Given the description of an element on the screen output the (x, y) to click on. 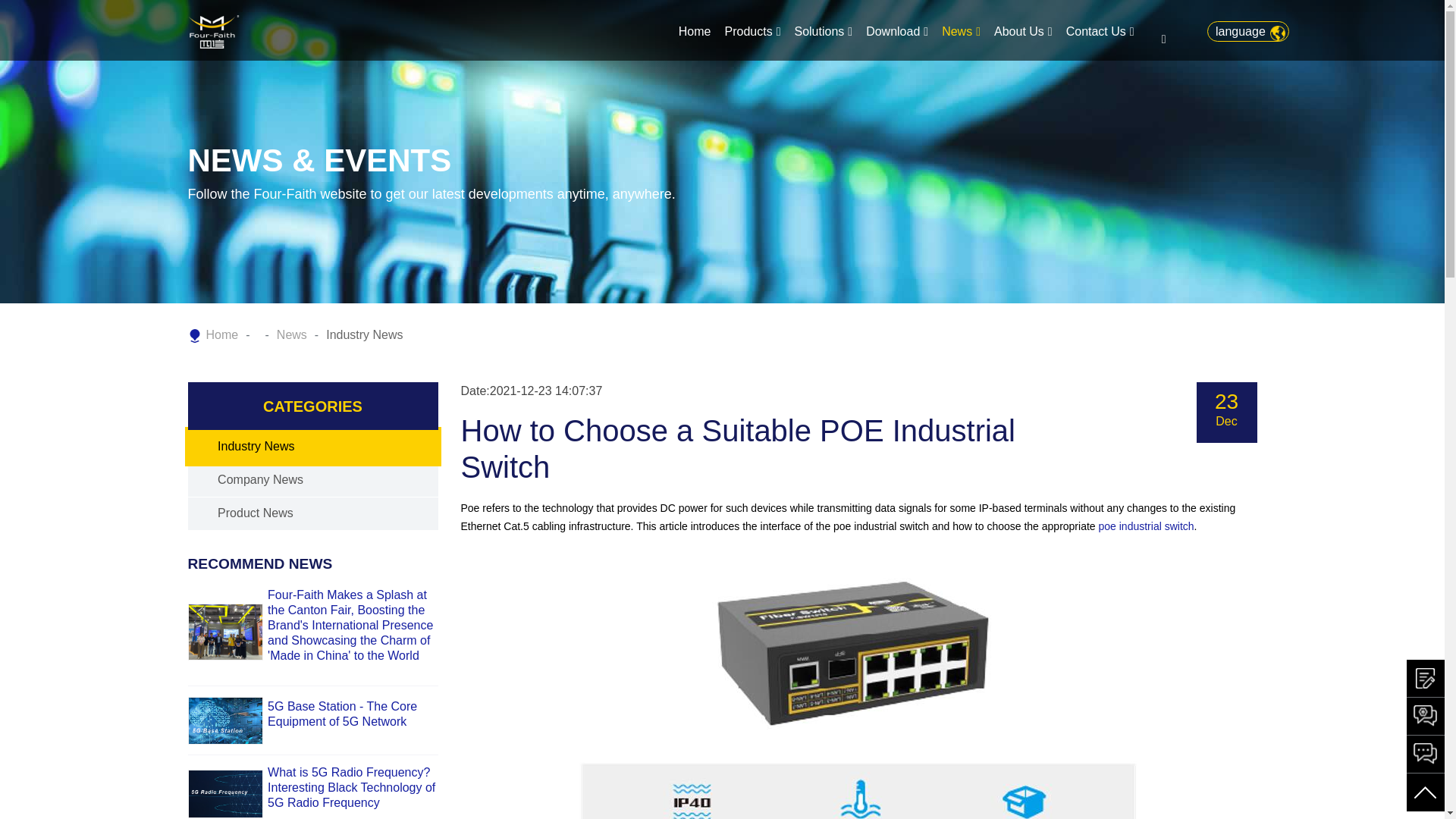
Product News (255, 512)
Products (752, 31)
language (1247, 31)
Solutions (823, 31)
Industry News (255, 445)
Company News (259, 479)
Home (694, 31)
